Given the description of an element on the screen output the (x, y) to click on. 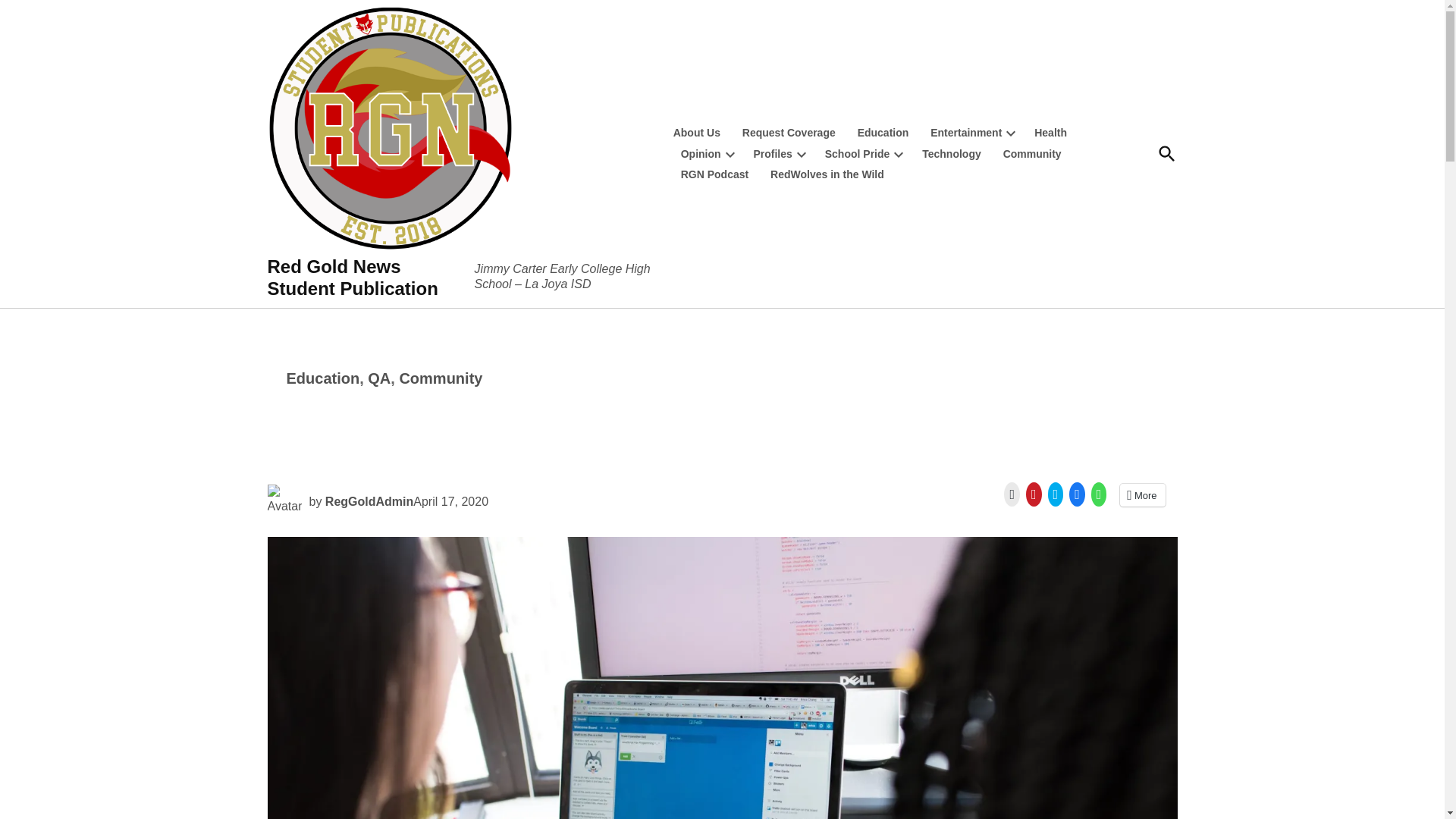
Entertainment (962, 132)
Request Coverage (789, 132)
Education (883, 132)
About Us (700, 132)
Red Gold News Student Publication (352, 277)
